Given the description of an element on the screen output the (x, y) to click on. 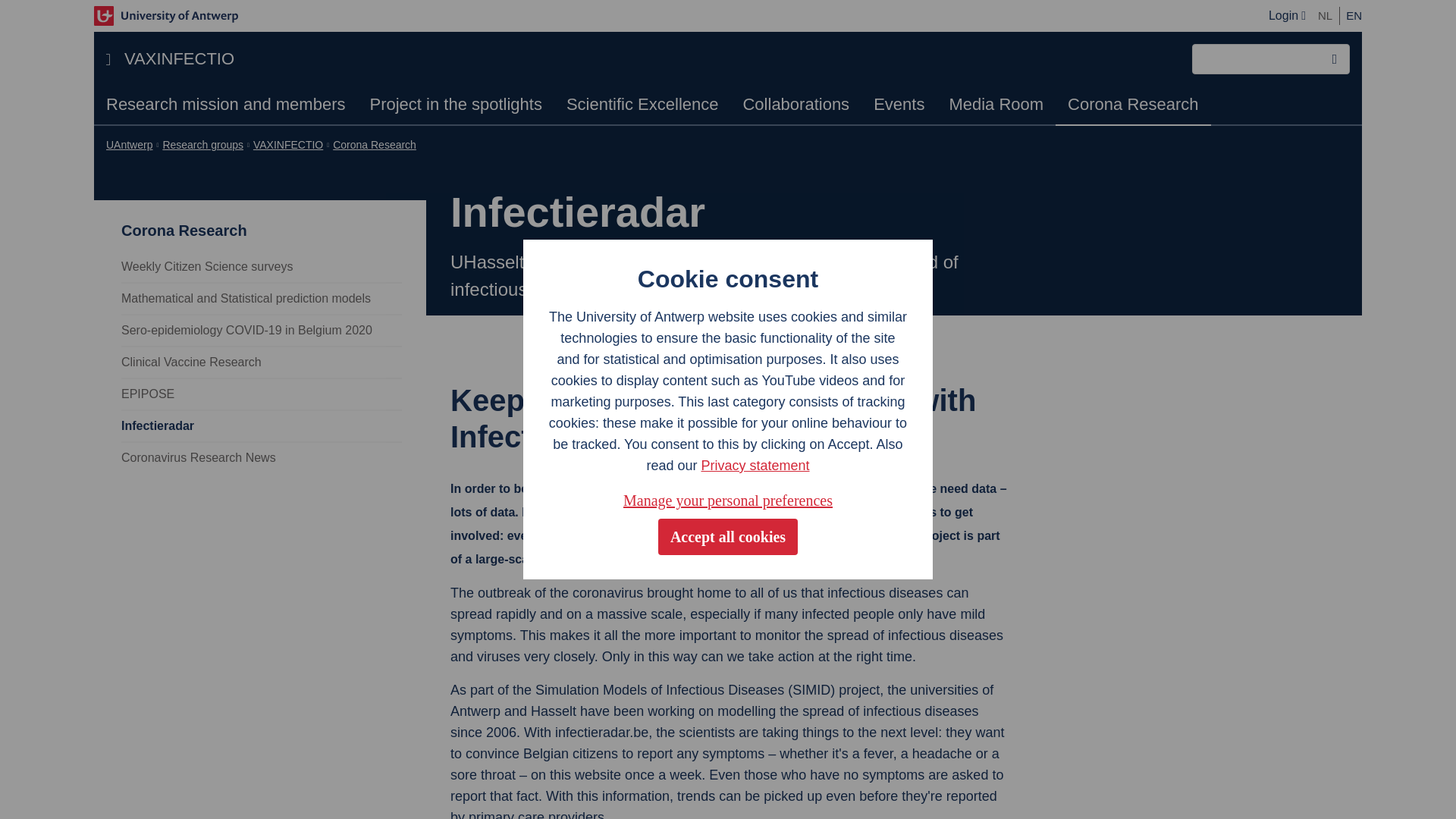
Corona Research (374, 144)
Mathematical and Statistical prediction models (260, 297)
Scientific Excellence (642, 105)
EPIPOSE (260, 393)
Research mission and members (225, 105)
Sero-epidemiology COVID-19 in Belgium 2020 (260, 329)
Clinical Vaccine Research (260, 361)
Corona Research (267, 219)
Weekly Citizen Science surveys (260, 266)
search (1334, 59)
Media Room (995, 105)
Privacy statement (754, 465)
Accept all cookies (727, 536)
Infectieradar (260, 425)
NL (1324, 15)
